Given the description of an element on the screen output the (x, y) to click on. 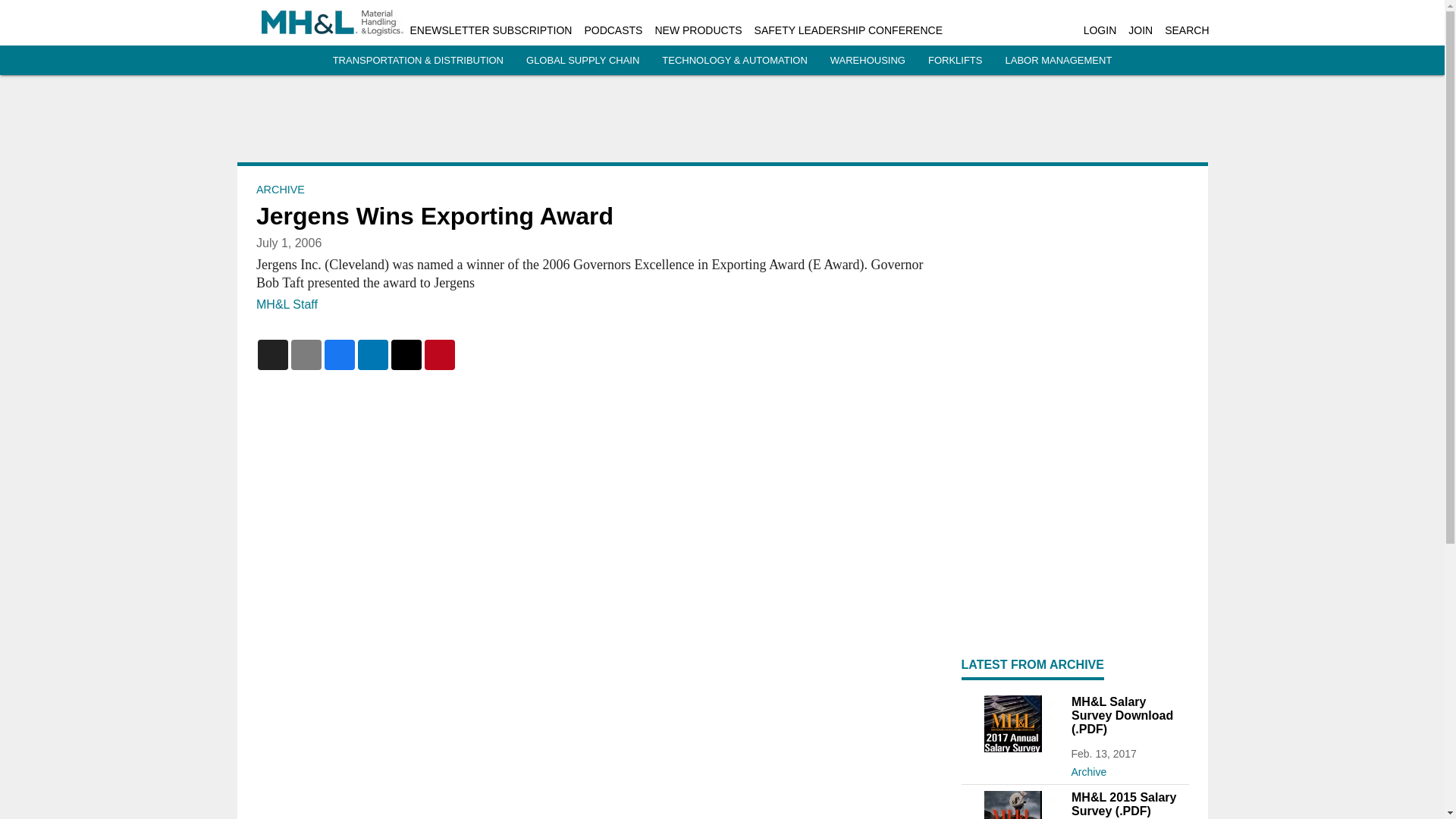
PODCASTS (612, 30)
SEARCH (1186, 30)
GLOBAL SUPPLY CHAIN (582, 60)
ENEWSLETTER SUBSCRIPTION (490, 30)
SAFETY LEADERSHIP CONFERENCE (848, 30)
NEW PRODUCTS (697, 30)
ARCHIVE (280, 189)
JOIN (1140, 30)
